Given the description of an element on the screen output the (x, y) to click on. 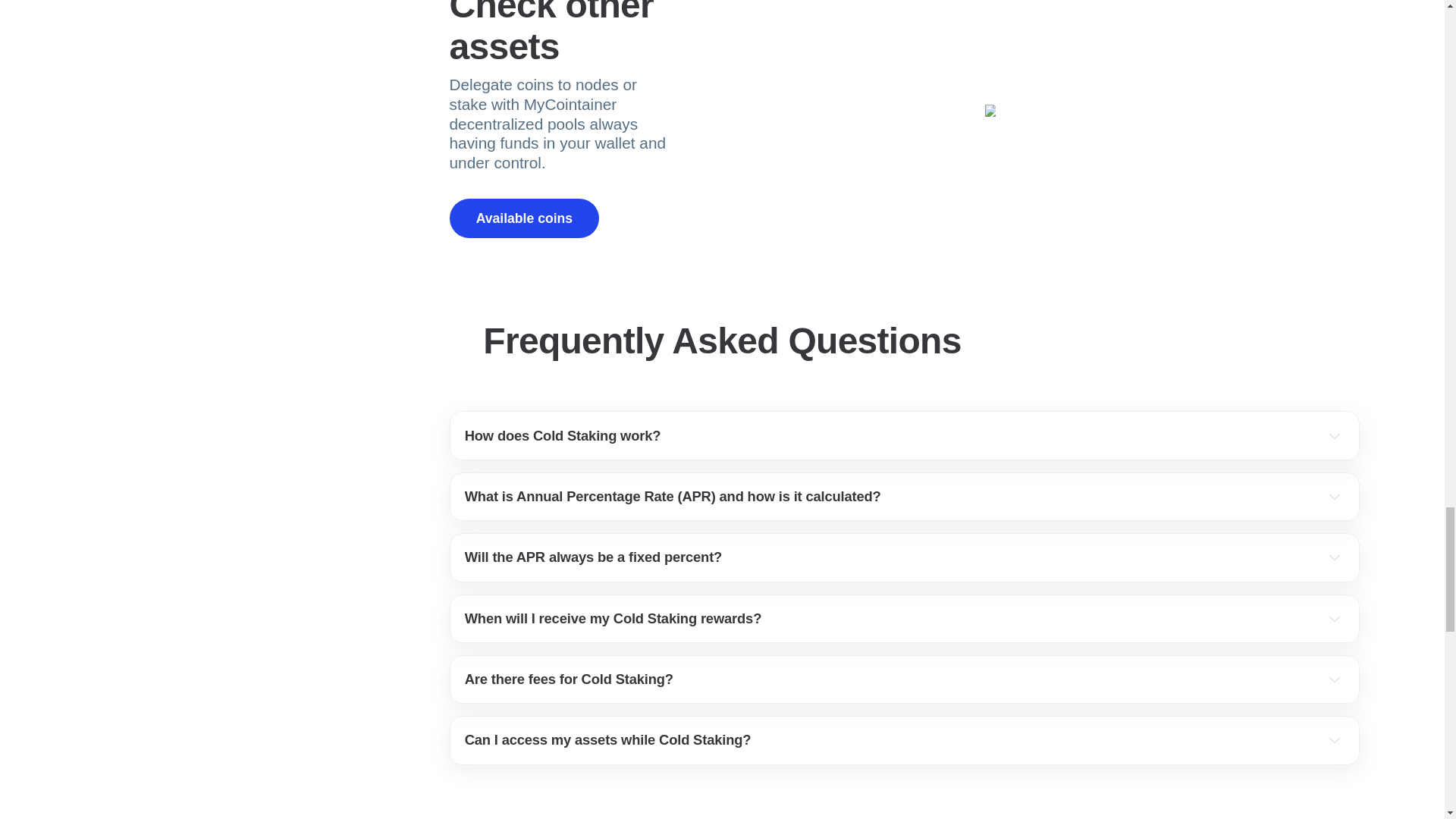
Available coins (523, 218)
Available coins (523, 218)
